Given the description of an element on the screen output the (x, y) to click on. 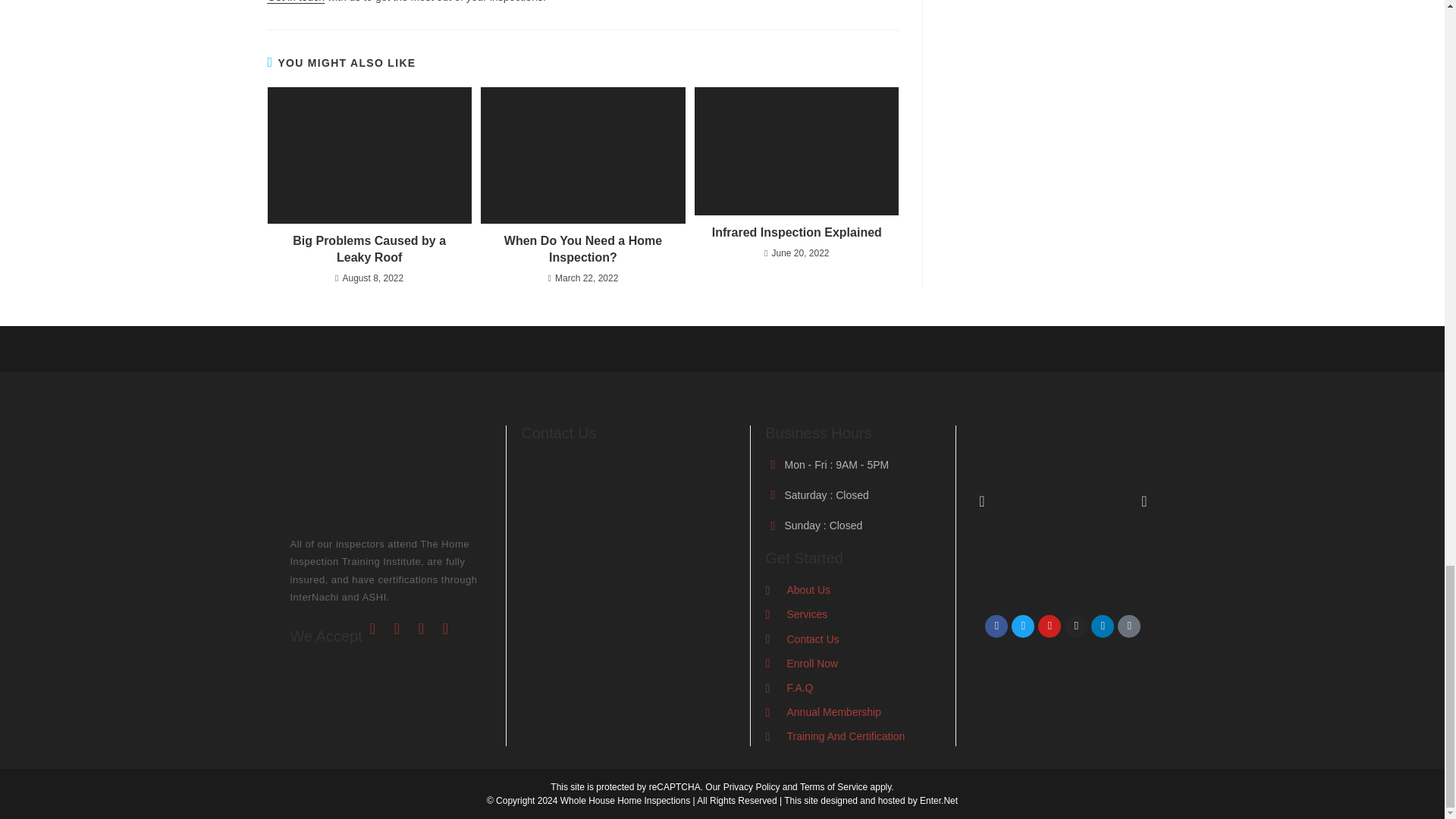
Big Problems Caused by a Leaky Roof 2 (368, 154)
Infrared Inspection Explained 4 (796, 150)
When Do You Need a Home Inspection? 3 (582, 154)
